Given the description of an element on the screen output the (x, y) to click on. 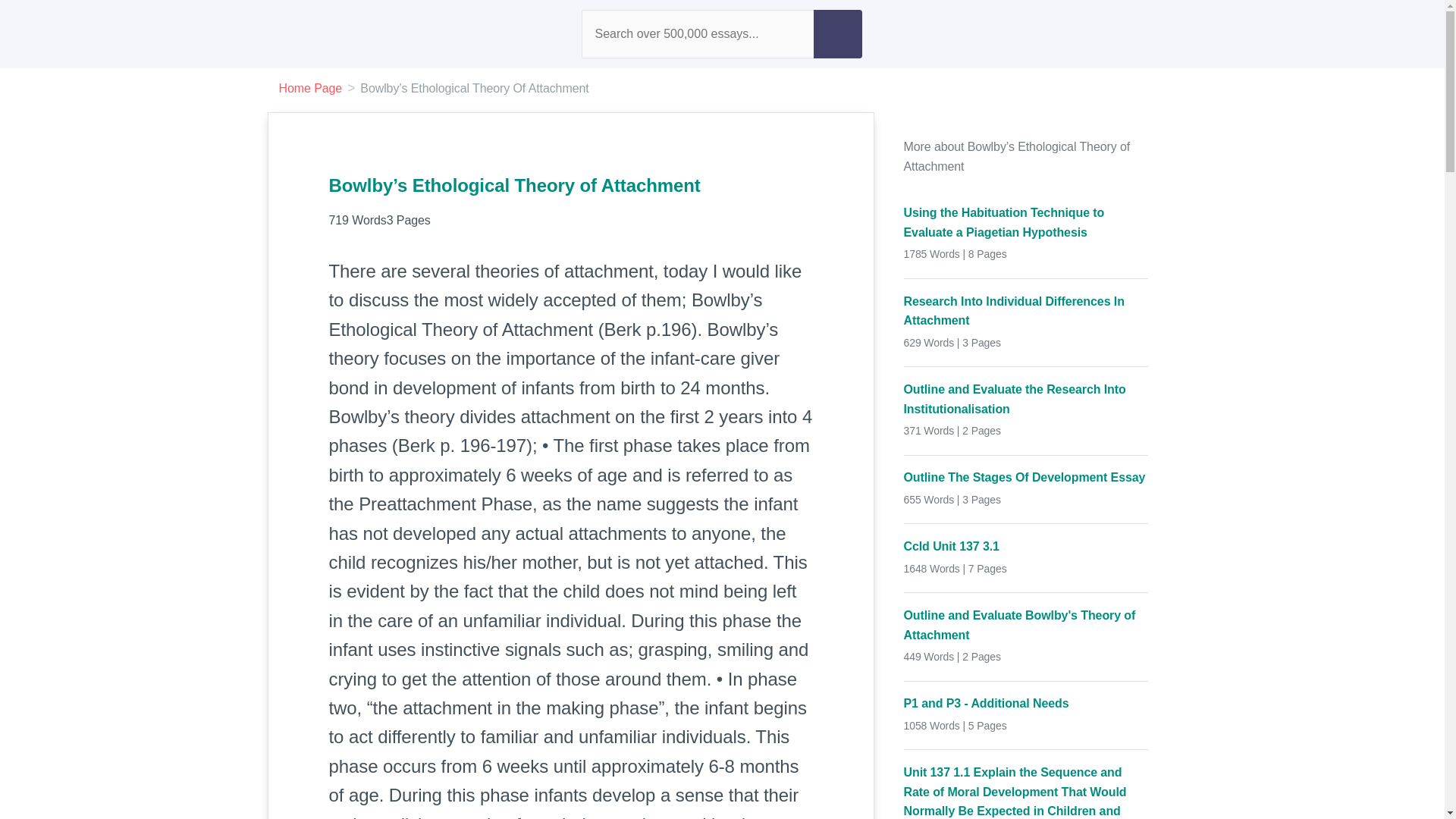
P1 and P3 - Additional Needs (1026, 703)
Outline The Stages Of Development Essay (1026, 477)
Home Page (310, 88)
Outline and Evaluate the Research Into Institutionalisation (1026, 399)
Ccld Unit 137 3.1 (1026, 546)
Outline and Evaluate Bowlby's Theory of Attachment (1026, 625)
Research Into Individual Differences In Attachment (1026, 310)
